Given the description of an element on the screen output the (x, y) to click on. 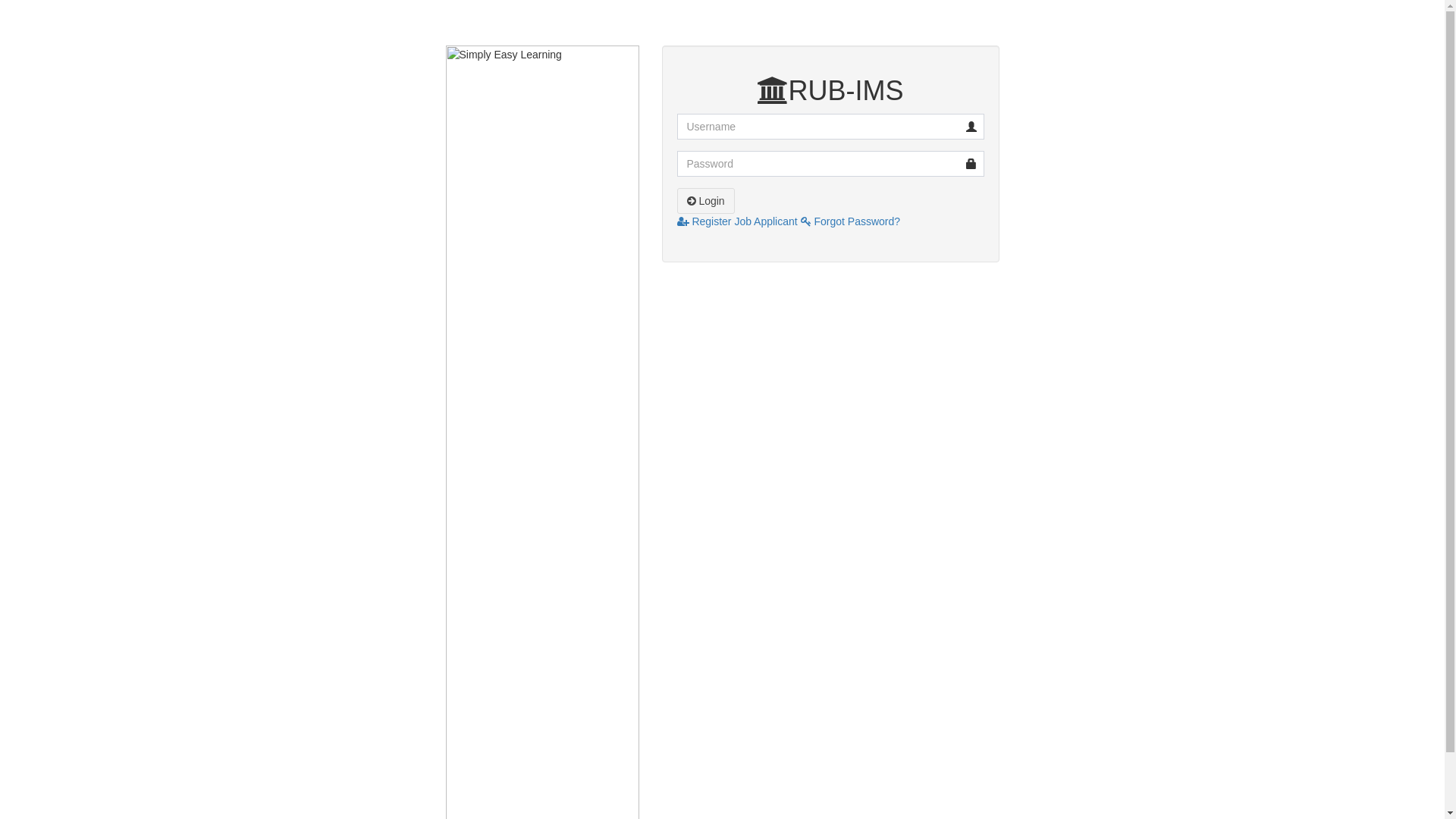
Register Job Applicant Element type: text (736, 221)
Forgot Password? Element type: text (850, 221)
Login Element type: text (705, 200)
